Given the description of an element on the screen output the (x, y) to click on. 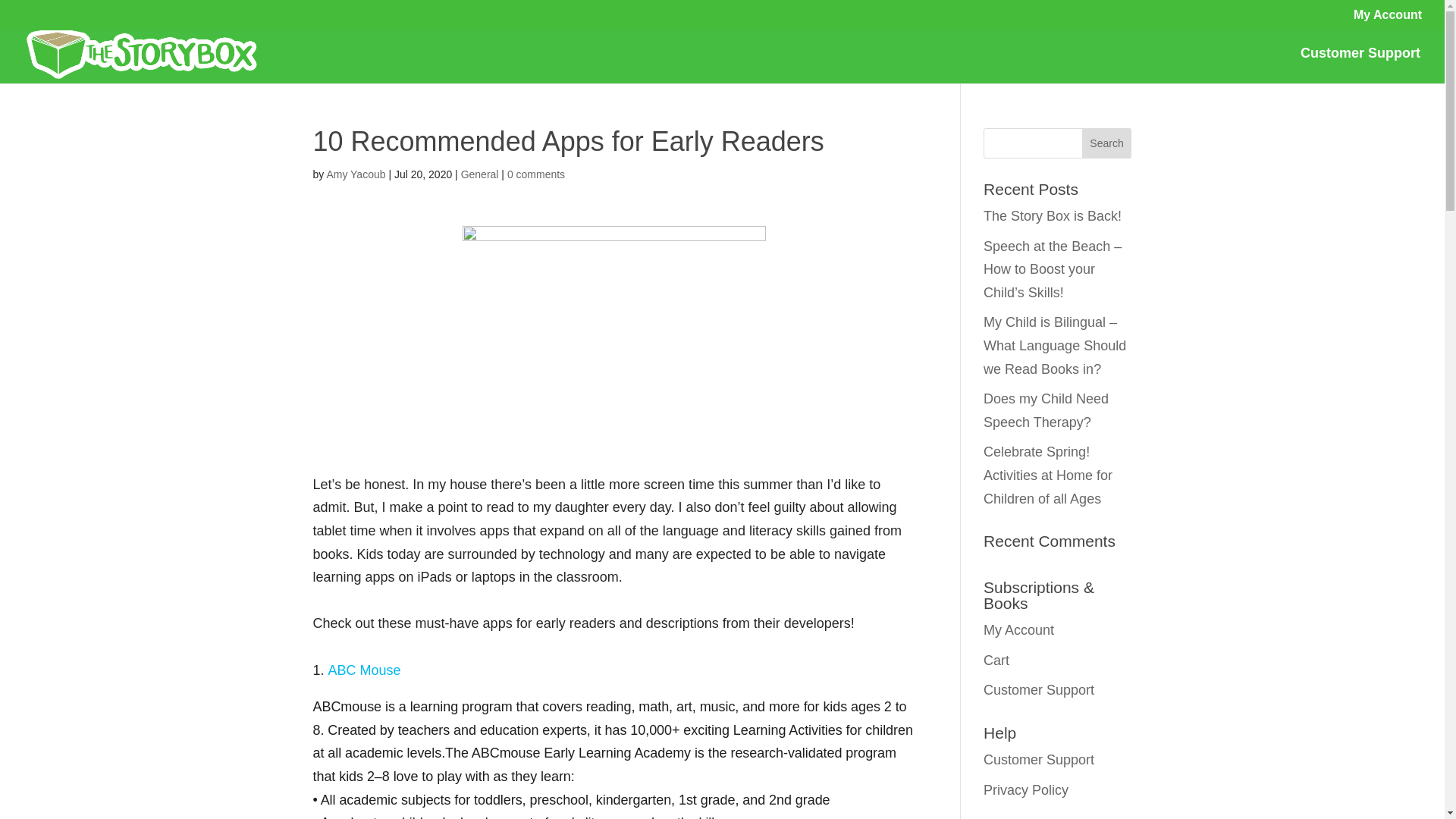
0 comments (535, 174)
General (480, 174)
Does my Child Need Speech Therapy? (1046, 410)
Search (1106, 142)
The Story Box is Back! (1052, 215)
Posts by Amy Yacoub (355, 174)
Customer Support (1039, 689)
Customer Support (1360, 65)
Privacy Policy (1026, 789)
